Given the description of an element on the screen output the (x, y) to click on. 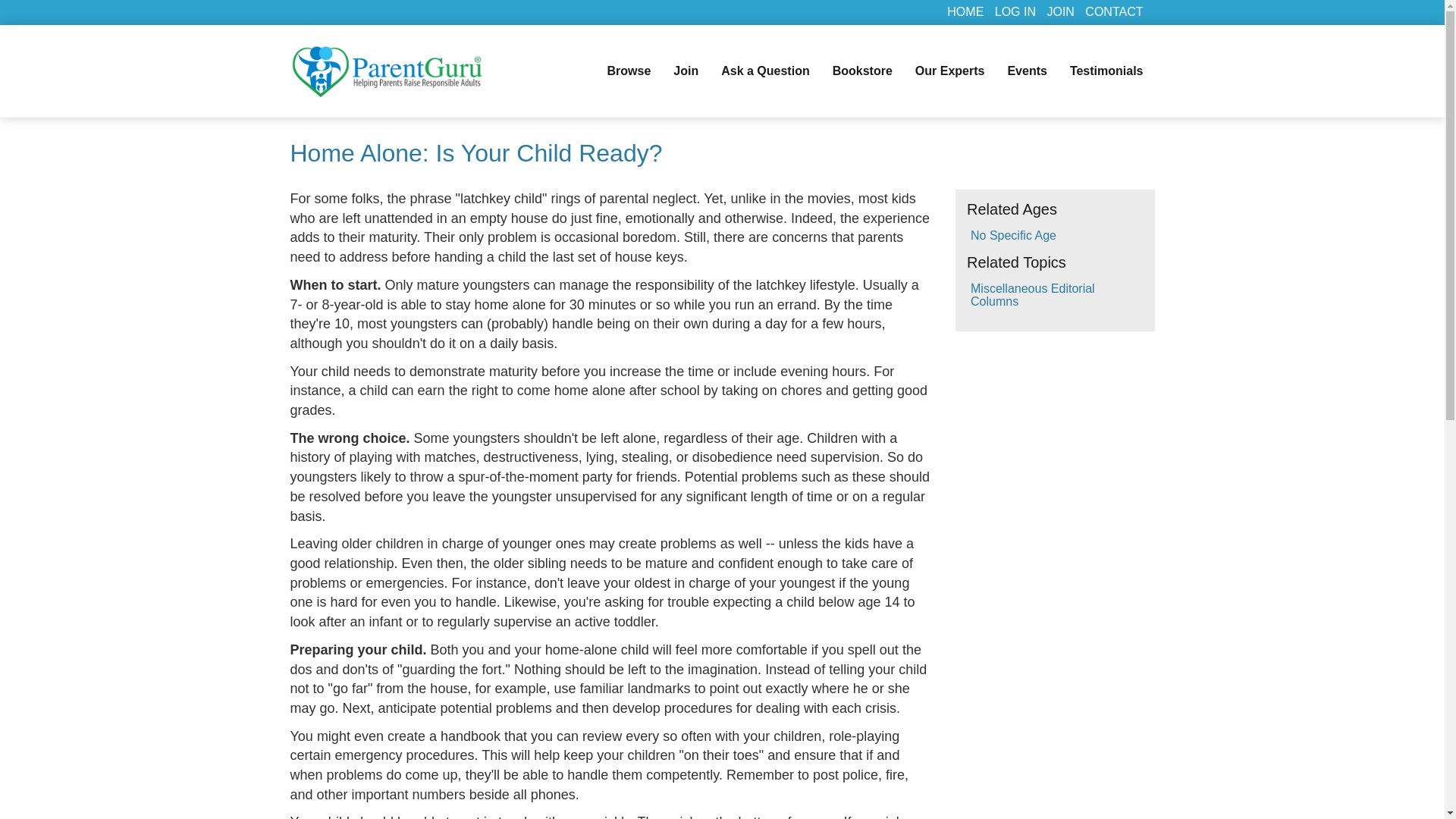
HOME (965, 11)
Testimonials (1106, 70)
Our Experts (949, 70)
Ask a Question (765, 70)
LOG IN (1014, 11)
JOIN (1060, 11)
Bookstore (862, 70)
Browse (628, 70)
CONTACT (1113, 11)
Events (1026, 70)
